Given the description of an element on the screen output the (x, y) to click on. 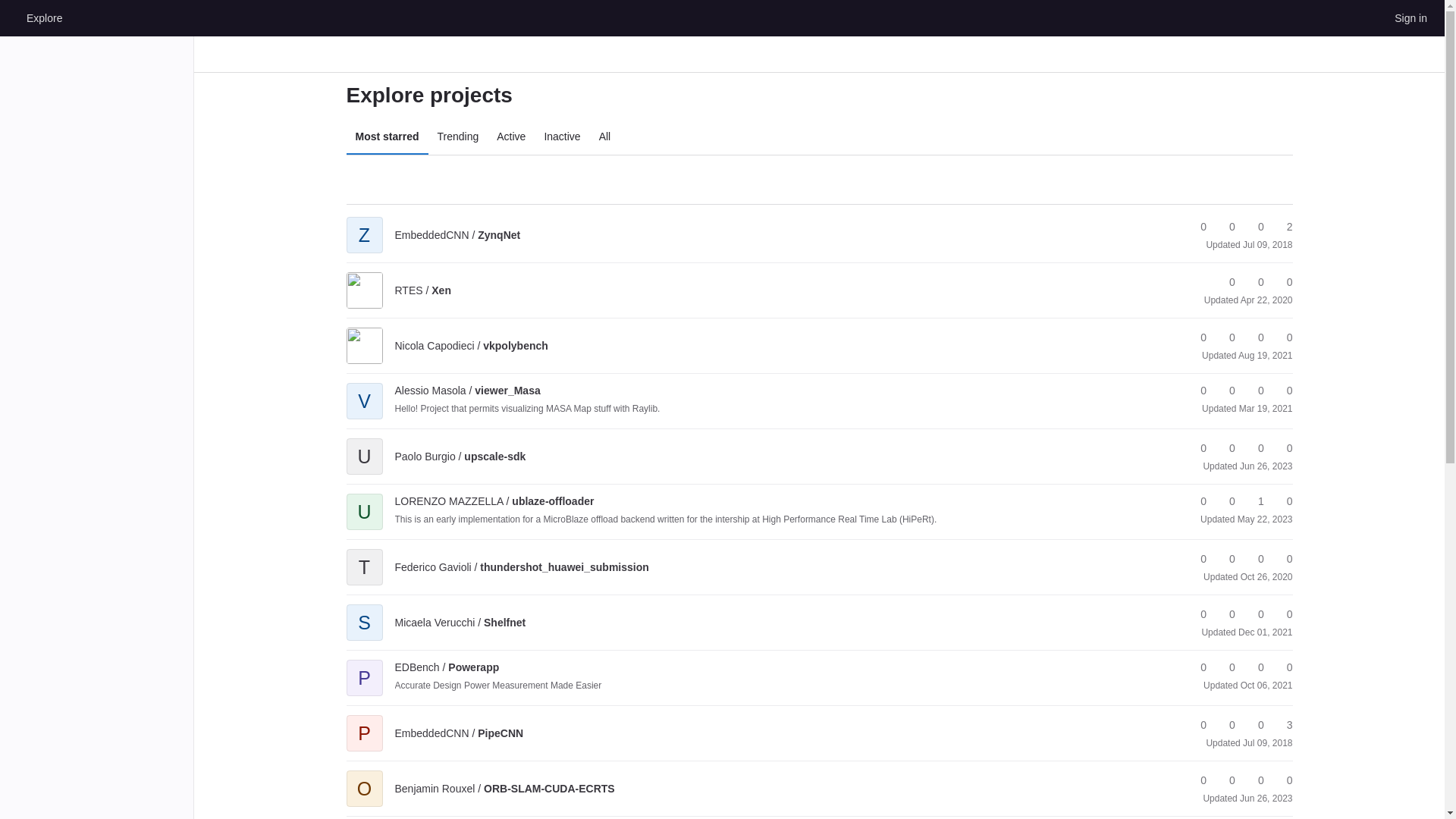
0 (1253, 337)
2 (1282, 227)
Z (363, 224)
Trending (457, 135)
Stars (1196, 227)
Merge requests (1282, 282)
Stars (1224, 282)
0 (1282, 282)
Forks (1224, 227)
Issues (1282, 227)
